Given the description of an element on the screen output the (x, y) to click on. 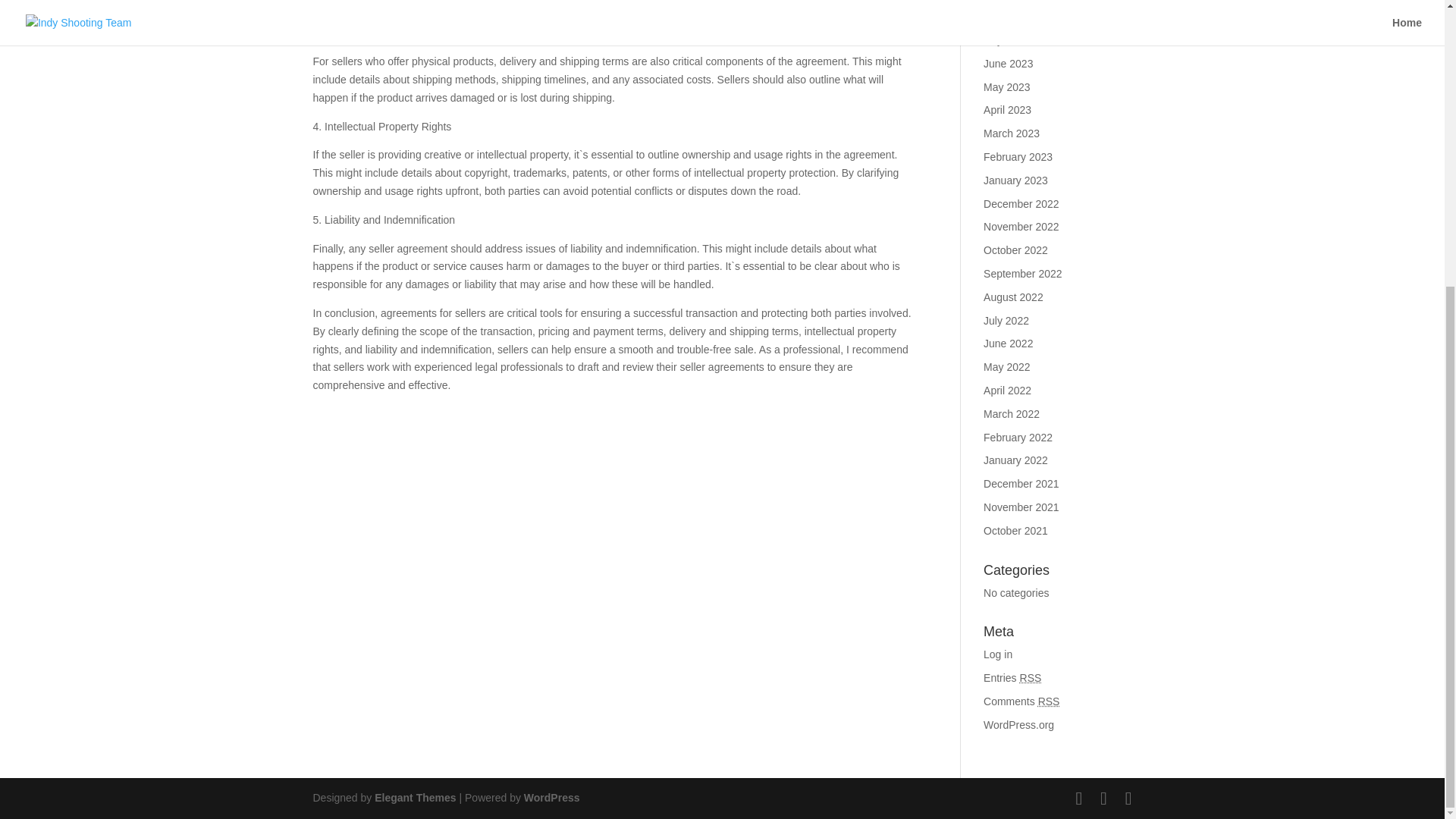
October 2022 (1016, 250)
July 2022 (1006, 320)
November 2021 (1021, 507)
August 2023 (1013, 16)
August 2022 (1013, 297)
June 2022 (1008, 343)
Really Simple Syndication (1031, 677)
May 2022 (1006, 367)
December 2022 (1021, 203)
March 2022 (1011, 413)
June 2023 (1008, 63)
September 2022 (1023, 273)
February 2023 (1018, 156)
February 2022 (1018, 437)
